Given the description of an element on the screen output the (x, y) to click on. 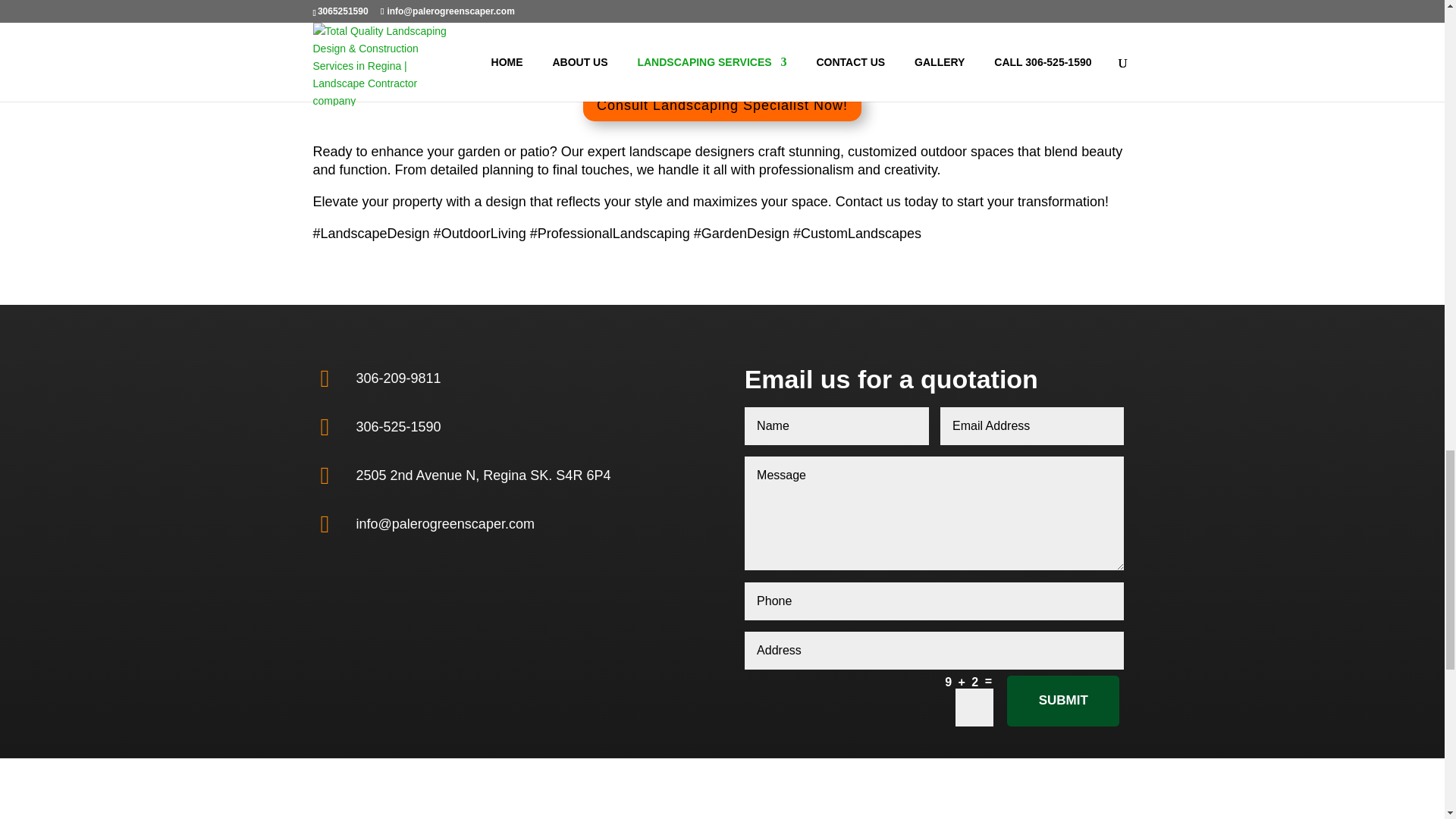
Consult Landscaping Specialist Now! (722, 104)
306-525-1590 (398, 426)
SUBMIT (1063, 700)
306-209-9811 (398, 378)
Only numbers allowed. (934, 600)
2505 2nd Avenue N, Regina SK. S4R 6P4 (483, 475)
